Given the description of an element on the screen output the (x, y) to click on. 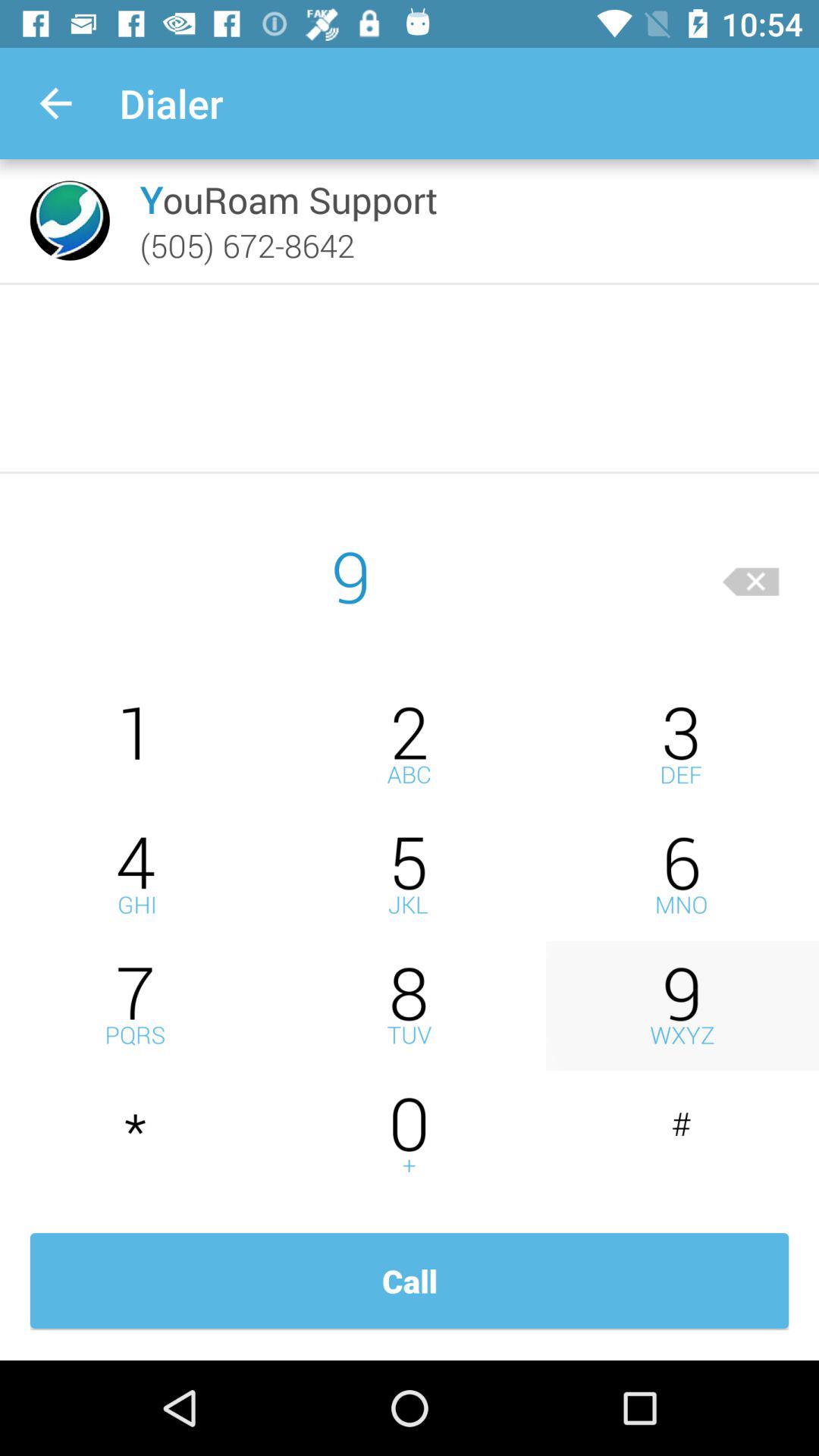
hash key (682, 1135)
